Given the description of an element on the screen output the (x, y) to click on. 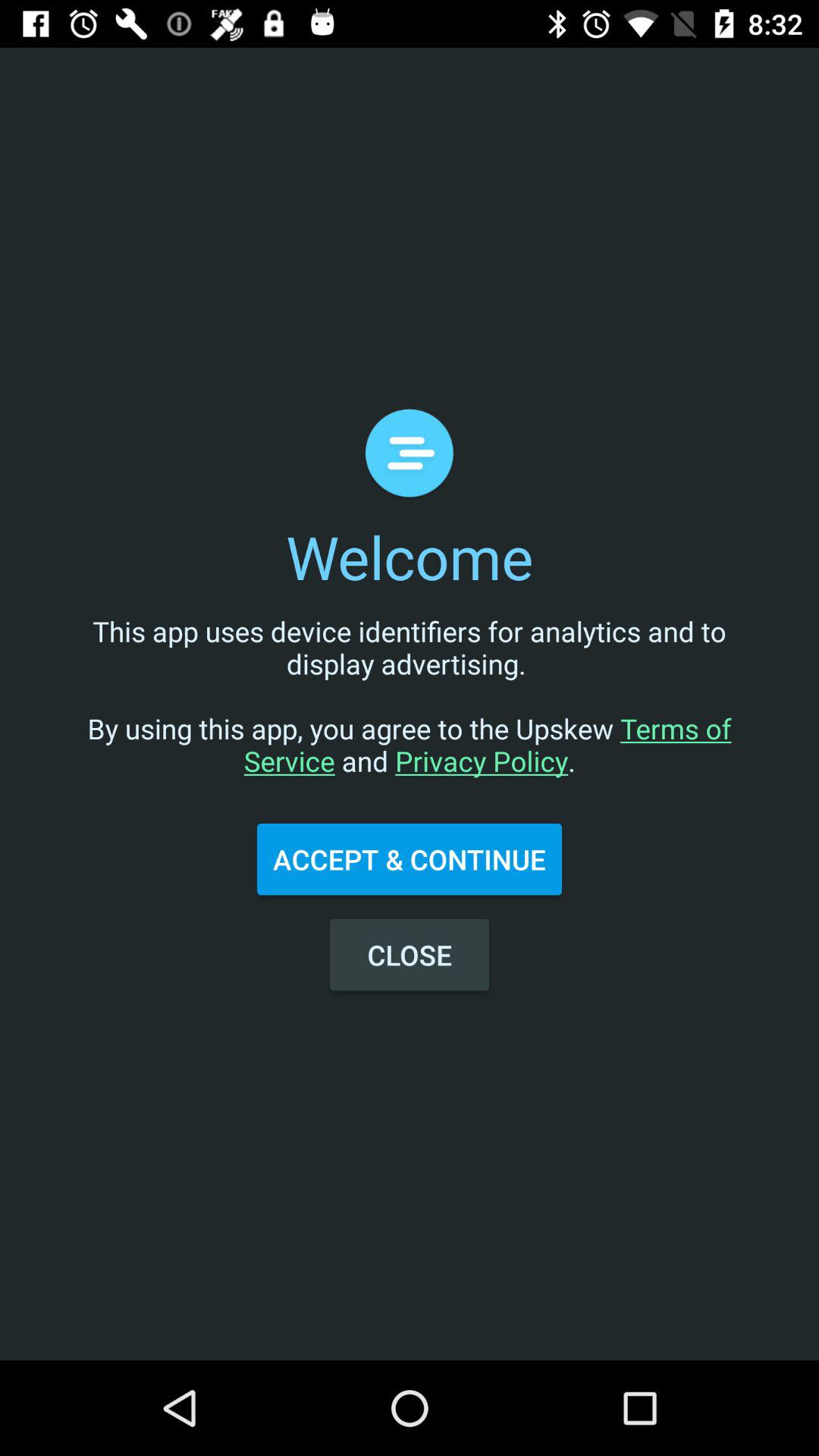
scroll to close icon (409, 954)
